Given the description of an element on the screen output the (x, y) to click on. 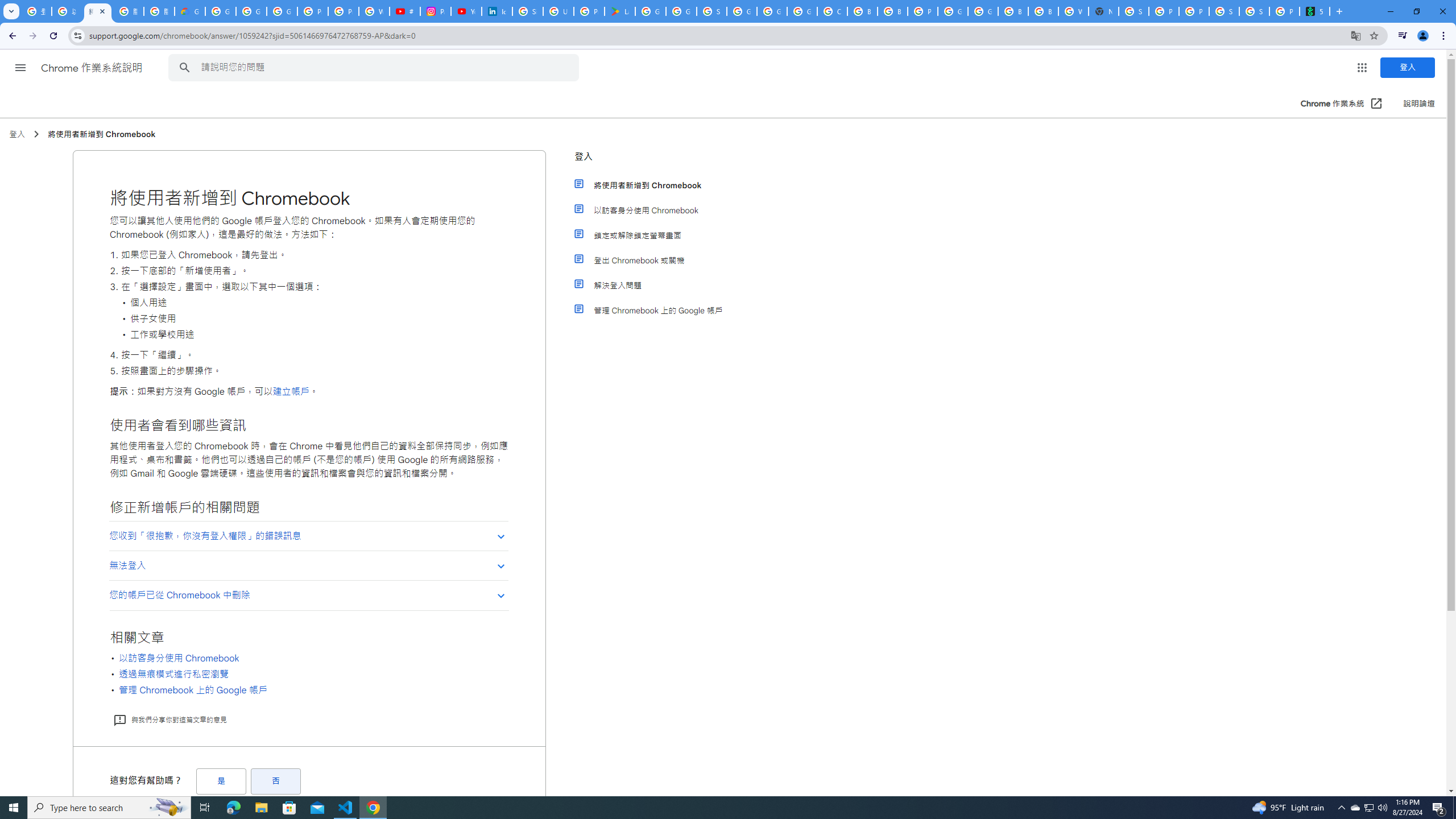
Identity verification via Persona | LinkedIn Help (496, 11)
Sign in - Google Accounts (1133, 11)
Browse Chrome as a guest - Computer - Google Chrome Help (892, 11)
